Given the description of an element on the screen output the (x, y) to click on. 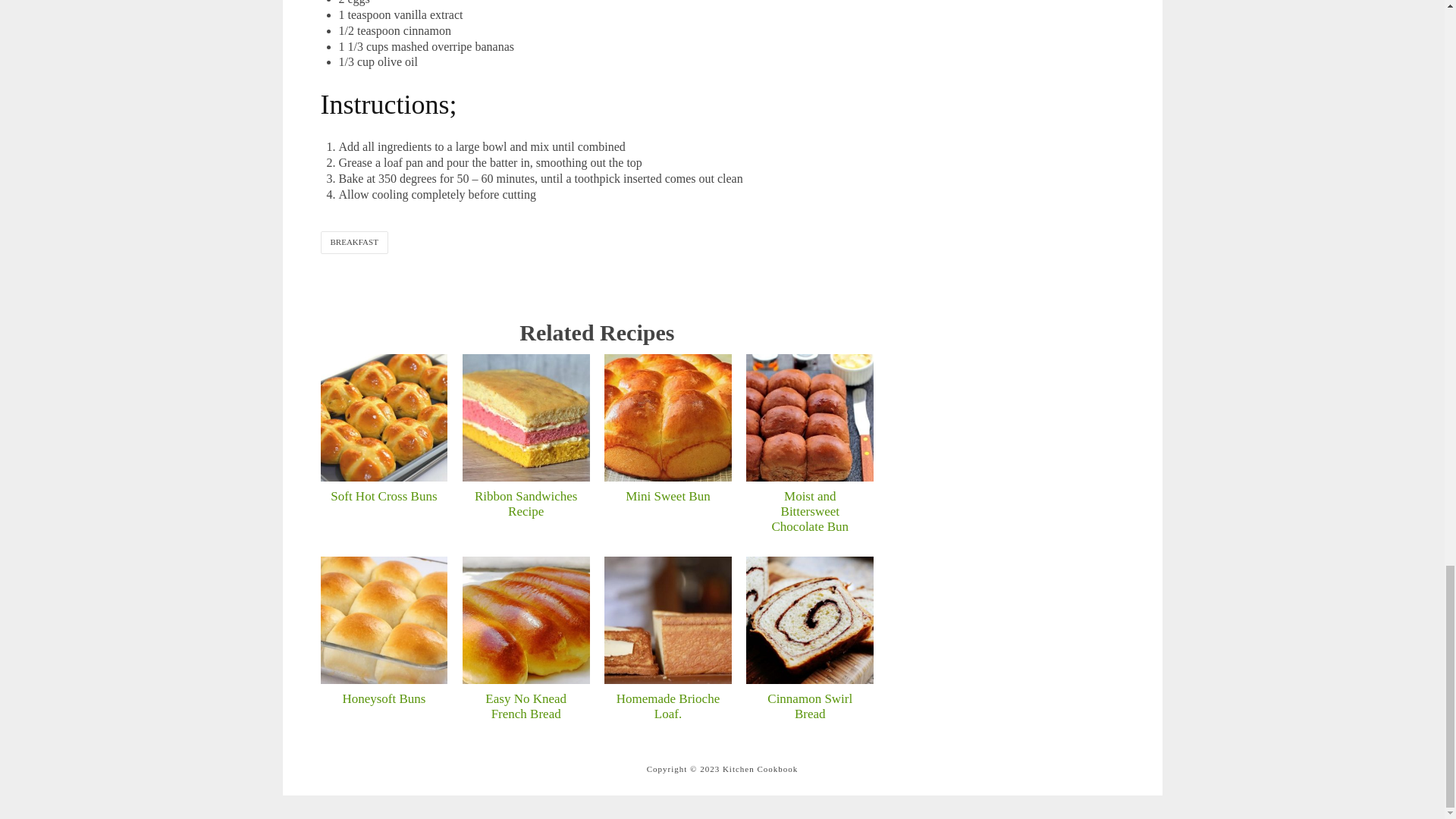
Honeysoft Buns (383, 619)
Moist and Bittersweet Chocolate Bun (809, 417)
Cinnamon Swirl Bread (809, 619)
Ribbon Sandwiches Recipe (526, 417)
Soft Hot Cross Buns (383, 417)
Homemade Brioche Loaf. (668, 619)
Mini Sweet Bun (668, 417)
BREAKFAST (353, 241)
Ribbon Sandwiches Recipe (526, 503)
Soft Hot Cross Buns (383, 495)
Easy No Knead French Bread (526, 619)
Mini Sweet Bun (668, 495)
